Given the description of an element on the screen output the (x, y) to click on. 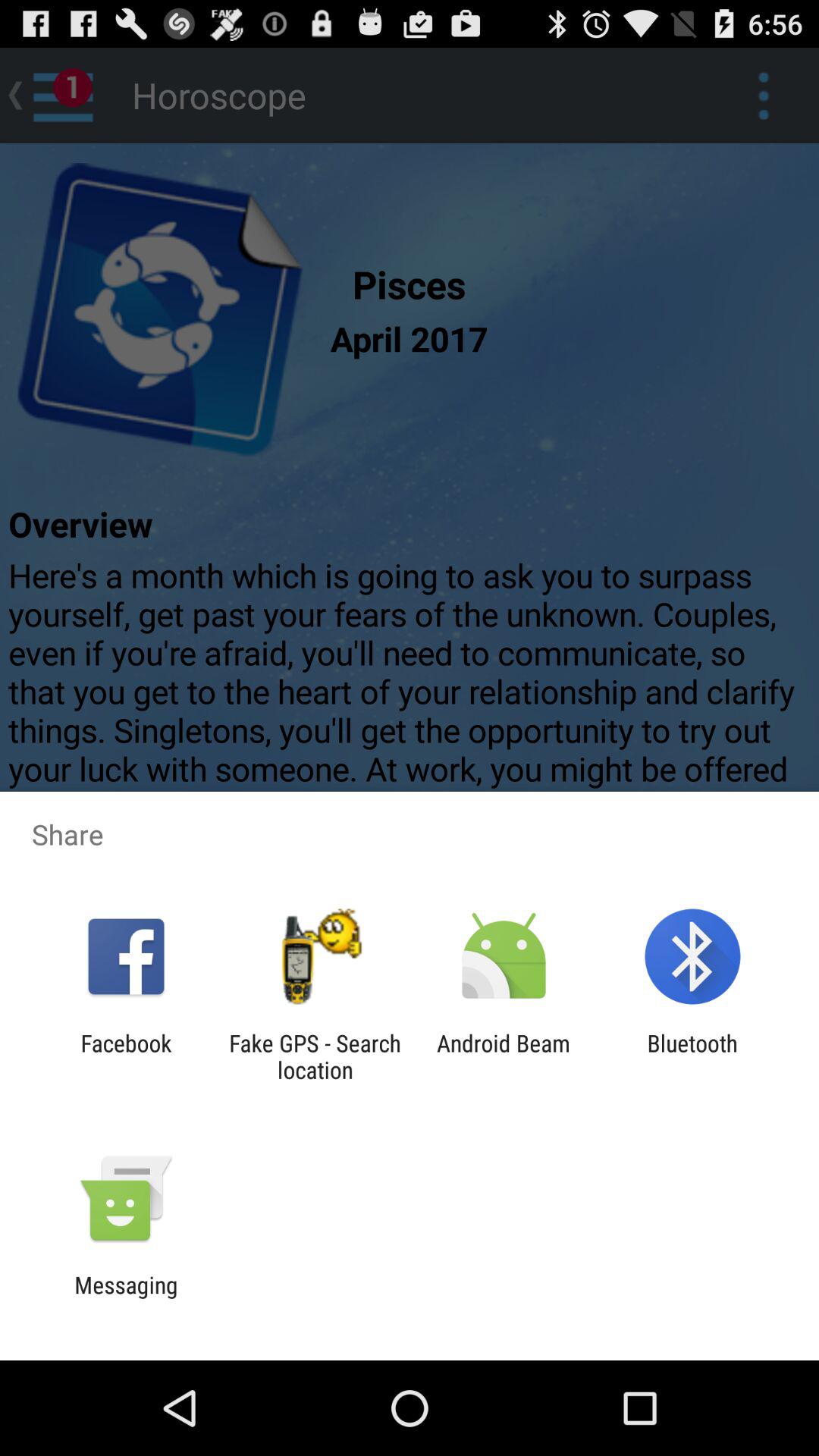
press the item to the left of android beam item (314, 1056)
